Given the description of an element on the screen output the (x, y) to click on. 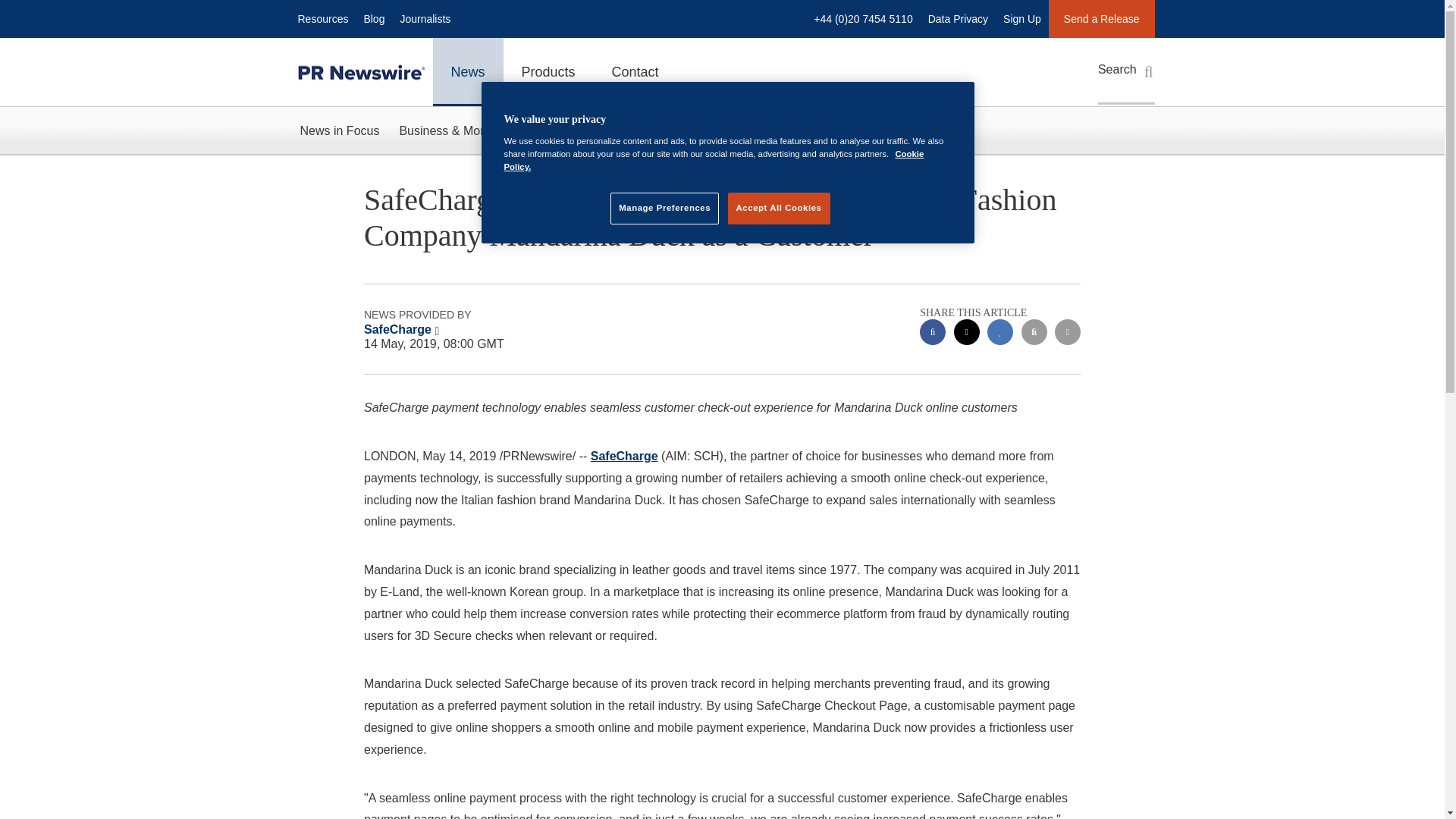
News in Focus (338, 130)
